Given the description of an element on the screen output the (x, y) to click on. 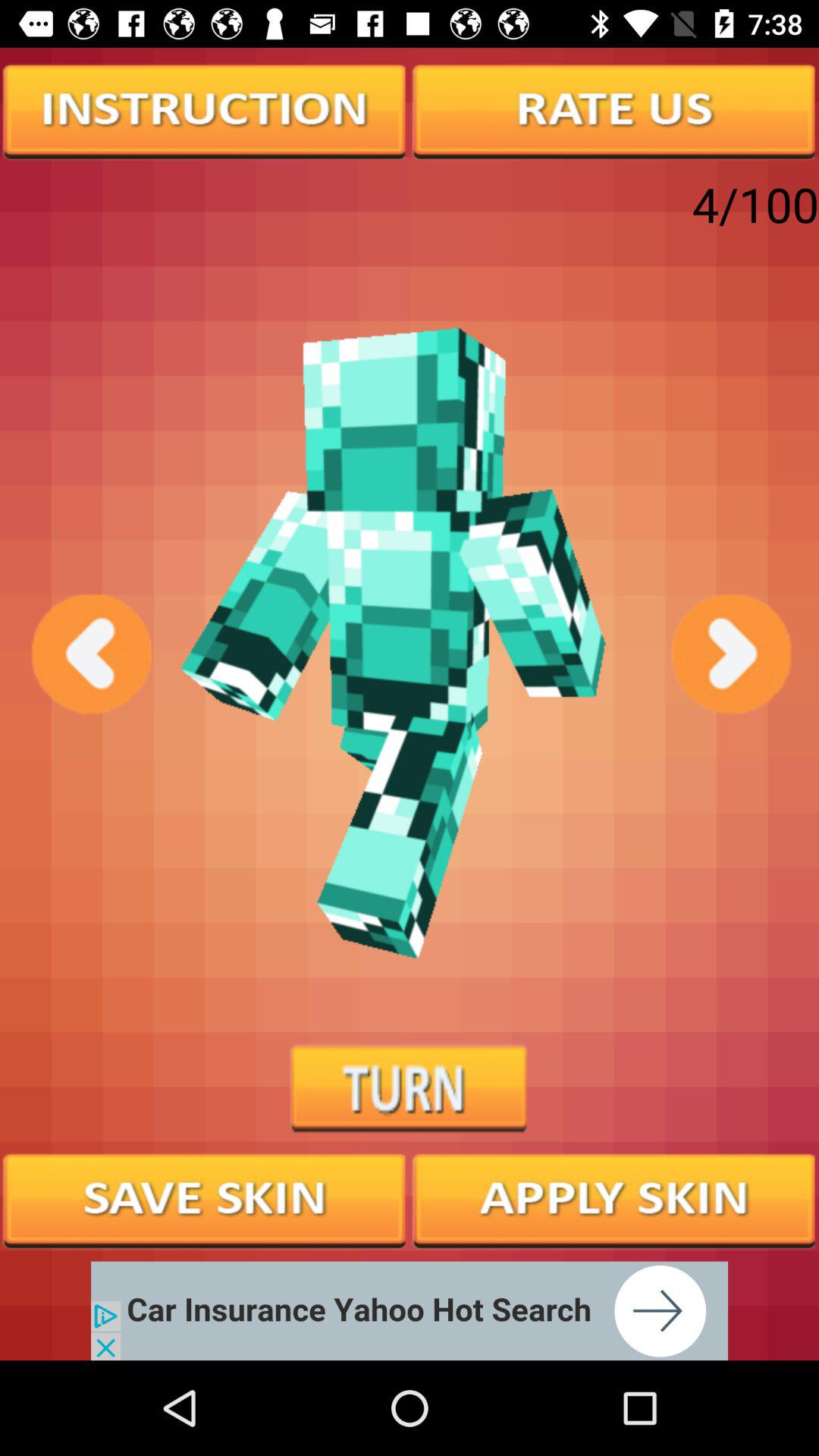
go to previous (89, 654)
